Given the description of an element on the screen output the (x, y) to click on. 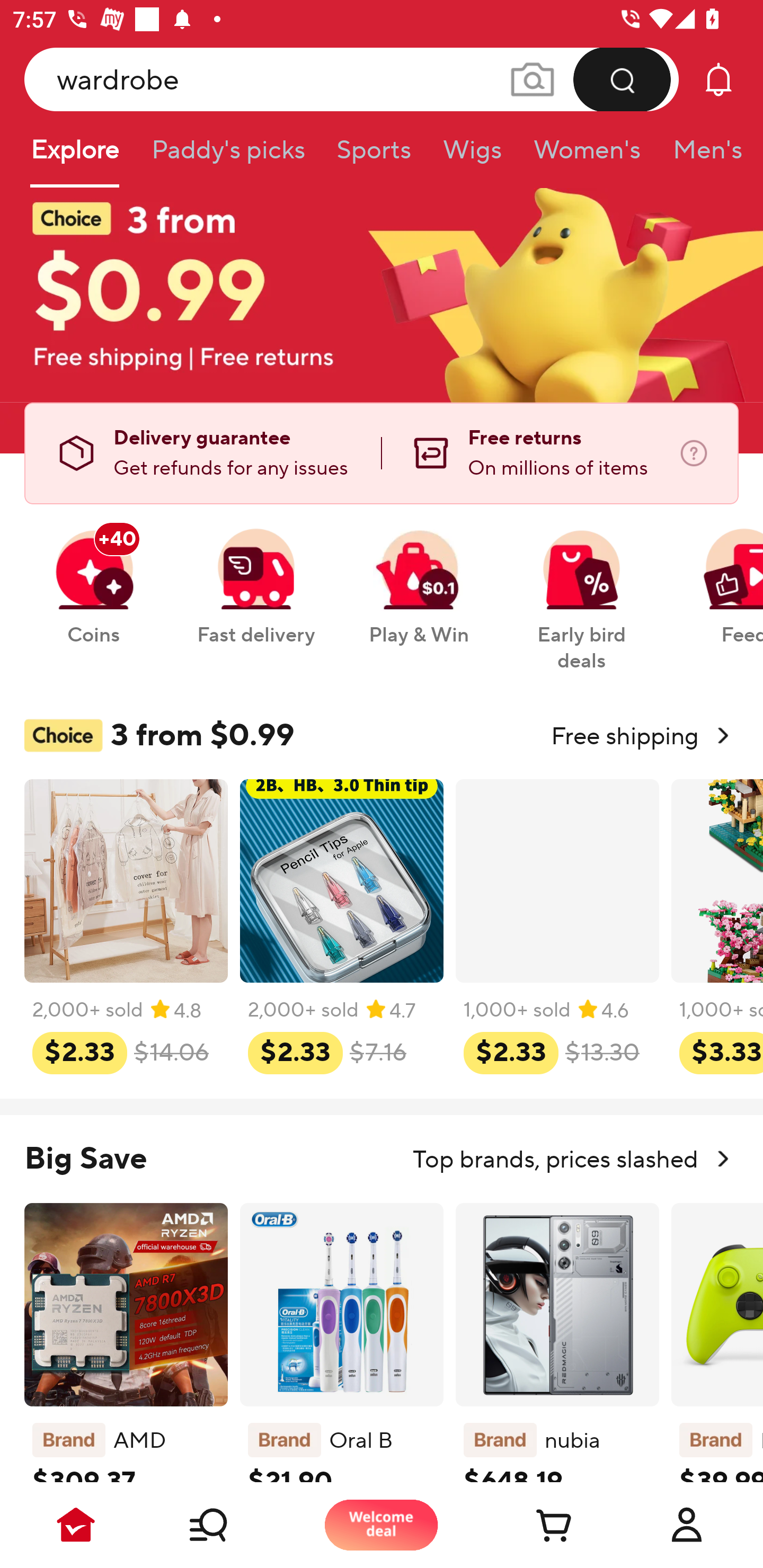
wardrobe (351, 79)
Paddy's picks (227, 155)
Sports (373, 155)
Wigs (472, 155)
Women's (586, 155)
Men's (701, 155)
Coinsbutton +40 Coins (93, 576)
Fast deliverybutton Fast delivery (255, 576)
Play & Winbutton Play & Win (418, 576)
Early bird dealsbutton Early bird deals (581, 589)
Feedbutton Feed (719, 576)
Shop (228, 1524)
Cart (533, 1524)
Account (686, 1524)
